Given the description of an element on the screen output the (x, y) to click on. 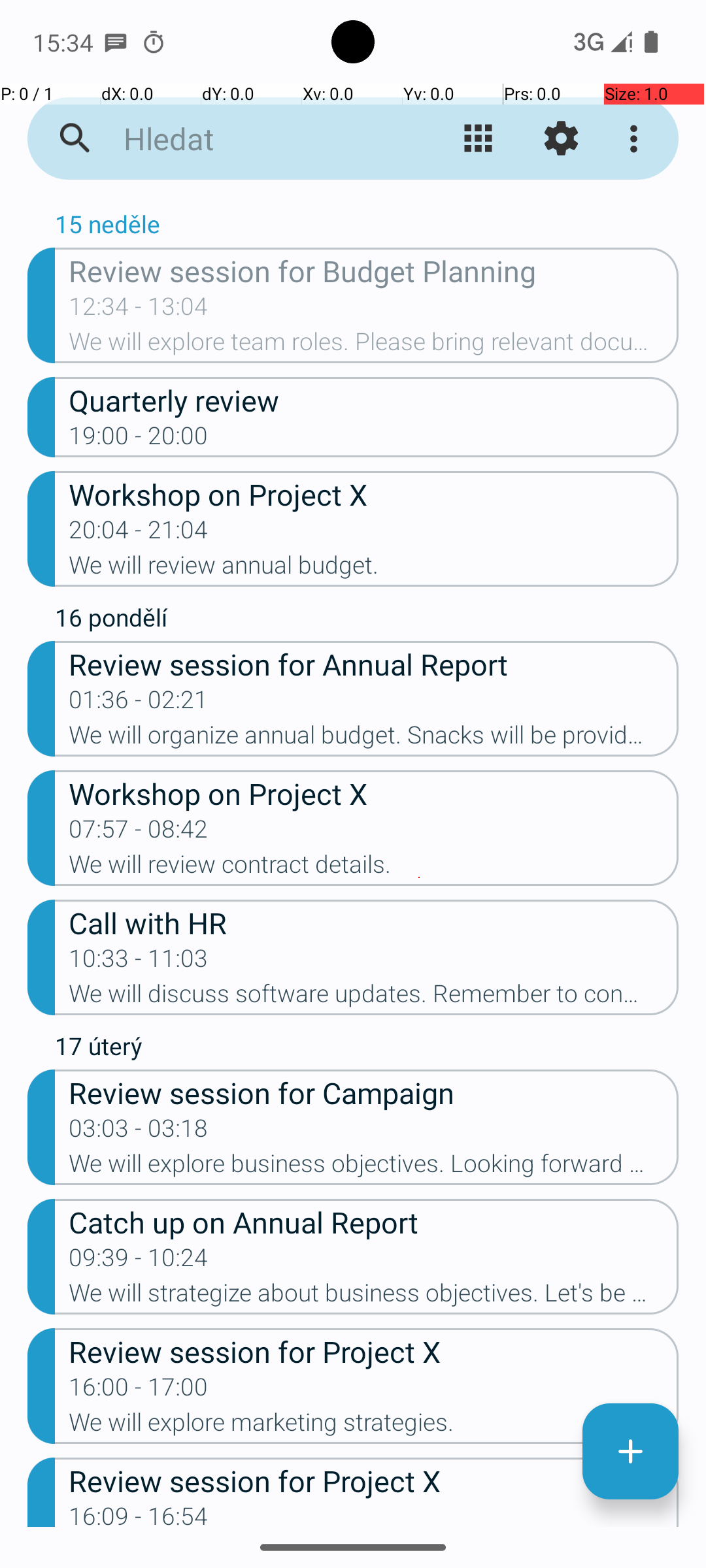
ŘÍJEN Element type: android.widget.TextView (353, 200)
15 neděle Element type: android.widget.TextView (366, 227)
16 pondělí Element type: android.widget.TextView (366, 620)
17 úterý Element type: android.widget.TextView (366, 1049)
12:34 - 13:04 Element type: android.widget.TextView (137, 309)
We will explore team roles. Please bring relevant documents. Element type: android.widget.TextView (373, 345)
Quarterly review Element type: android.widget.TextView (373, 399)
19:00 - 20:00 Element type: android.widget.TextView (137, 439)
20:04 - 21:04 Element type: android.widget.TextView (137, 533)
We will review annual budget. Element type: android.widget.TextView (373, 568)
01:36 - 02:21 Element type: android.widget.TextView (137, 703)
We will organize annual budget. Snacks will be provided. Element type: android.widget.TextView (373, 738)
07:57 - 08:42 Element type: android.widget.TextView (137, 832)
We will review contract details. Element type: android.widget.TextView (373, 867)
10:33 - 11:03 Element type: android.widget.TextView (137, 962)
We will discuss software updates. Remember to confirm attendance. Element type: android.widget.TextView (373, 997)
03:03 - 03:18 Element type: android.widget.TextView (137, 1131)
We will explore business objectives. Looking forward to productive discussions. Element type: android.widget.TextView (373, 1167)
09:39 - 10:24 Element type: android.widget.TextView (137, 1261)
We will strategize about business objectives. Let's be punctual. Element type: android.widget.TextView (373, 1296)
16:00 - 17:00 Element type: android.widget.TextView (137, 1390)
We will explore marketing strategies. Element type: android.widget.TextView (373, 1425)
16:09 - 16:54 Element type: android.widget.TextView (137, 1514)
